Given the description of an element on the screen output the (x, y) to click on. 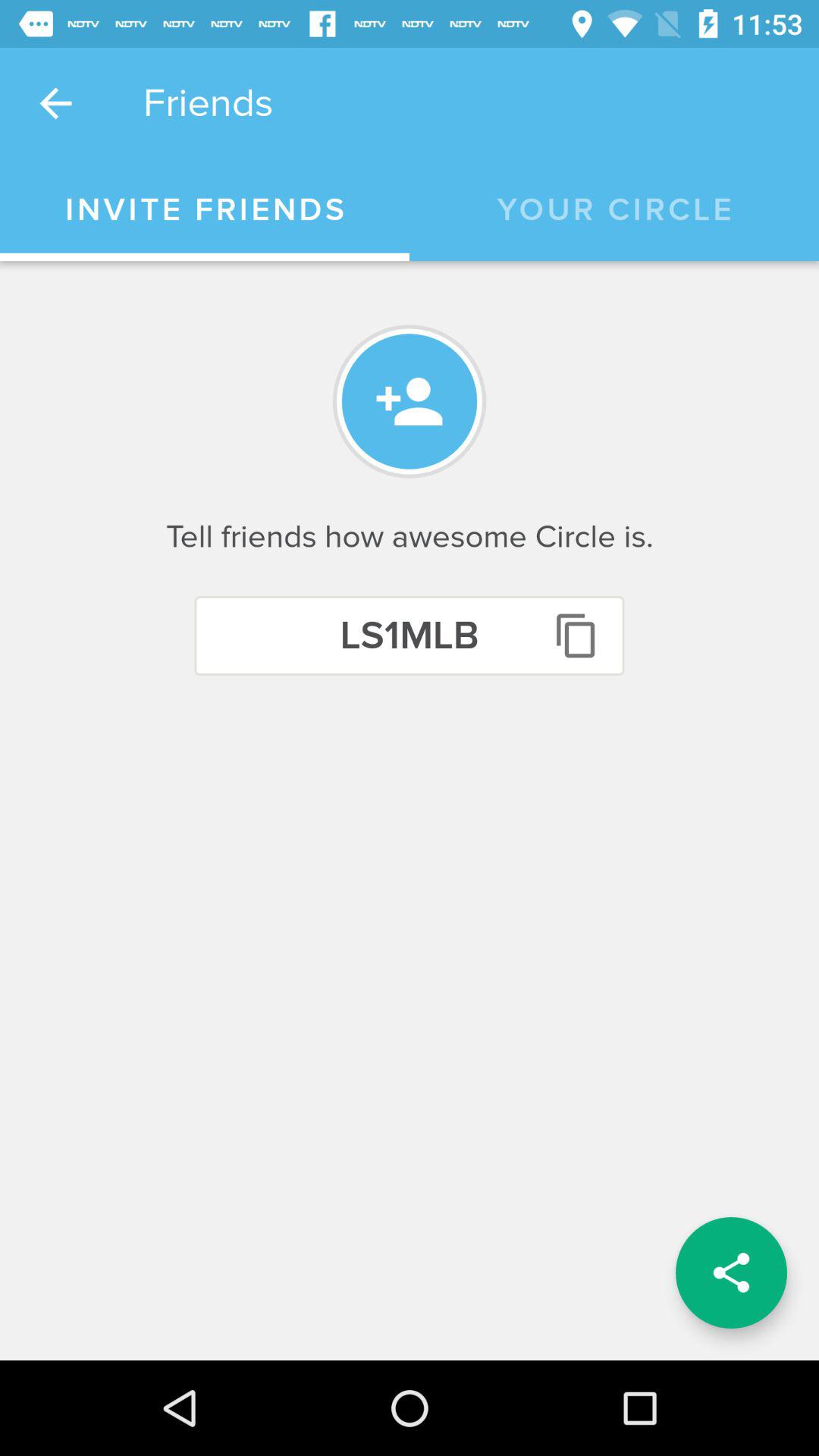
click icon next to invite friends (614, 210)
